Given the description of an element on the screen output the (x, y) to click on. 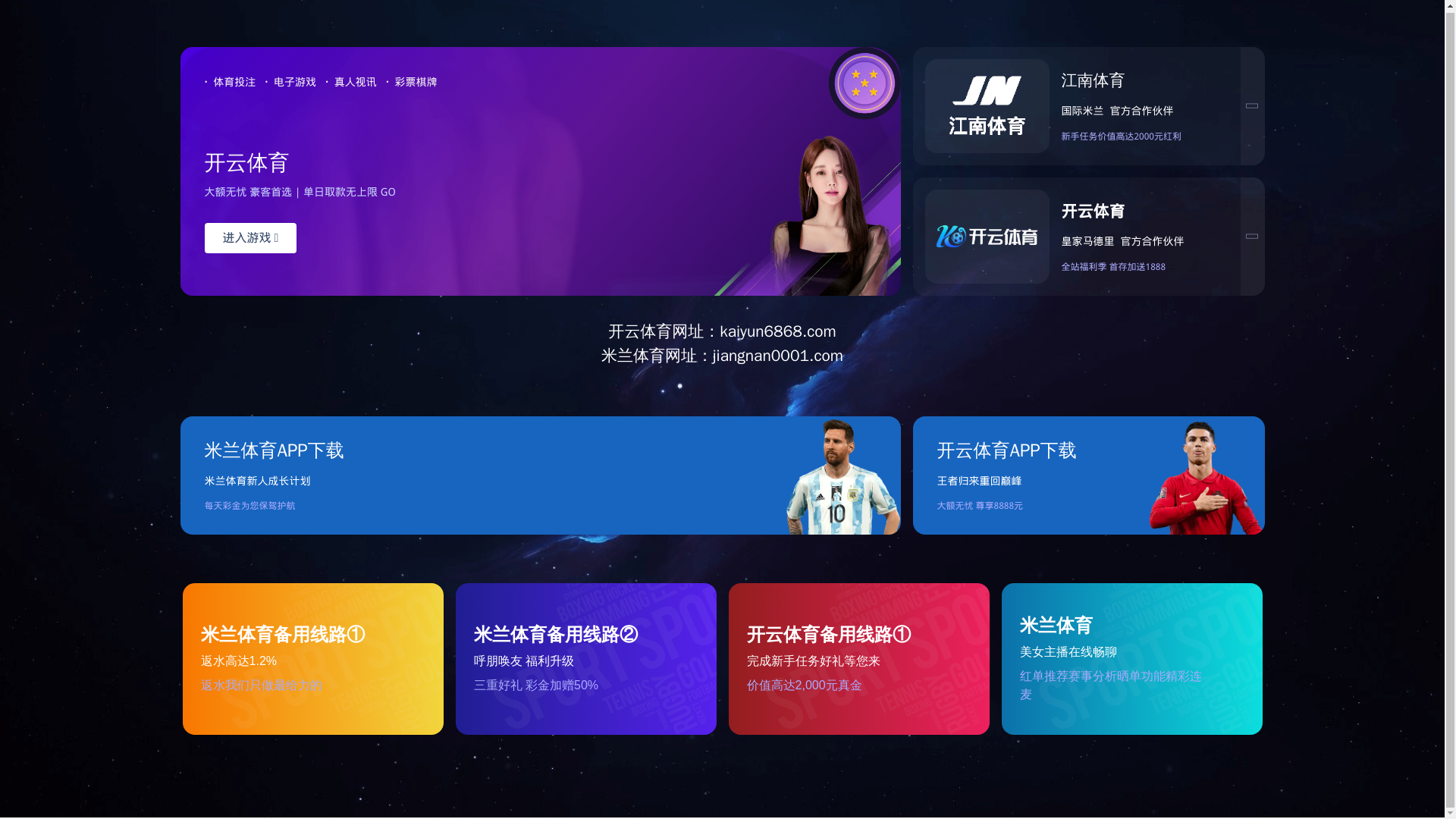
Products (645, 136)
Suppliers (773, 136)
Honor Customers (922, 136)
Contact Us (1075, 136)
Company Information (486, 136)
Home (336, 136)
SEARCH (1146, 78)
